Given the description of an element on the screen output the (x, y) to click on. 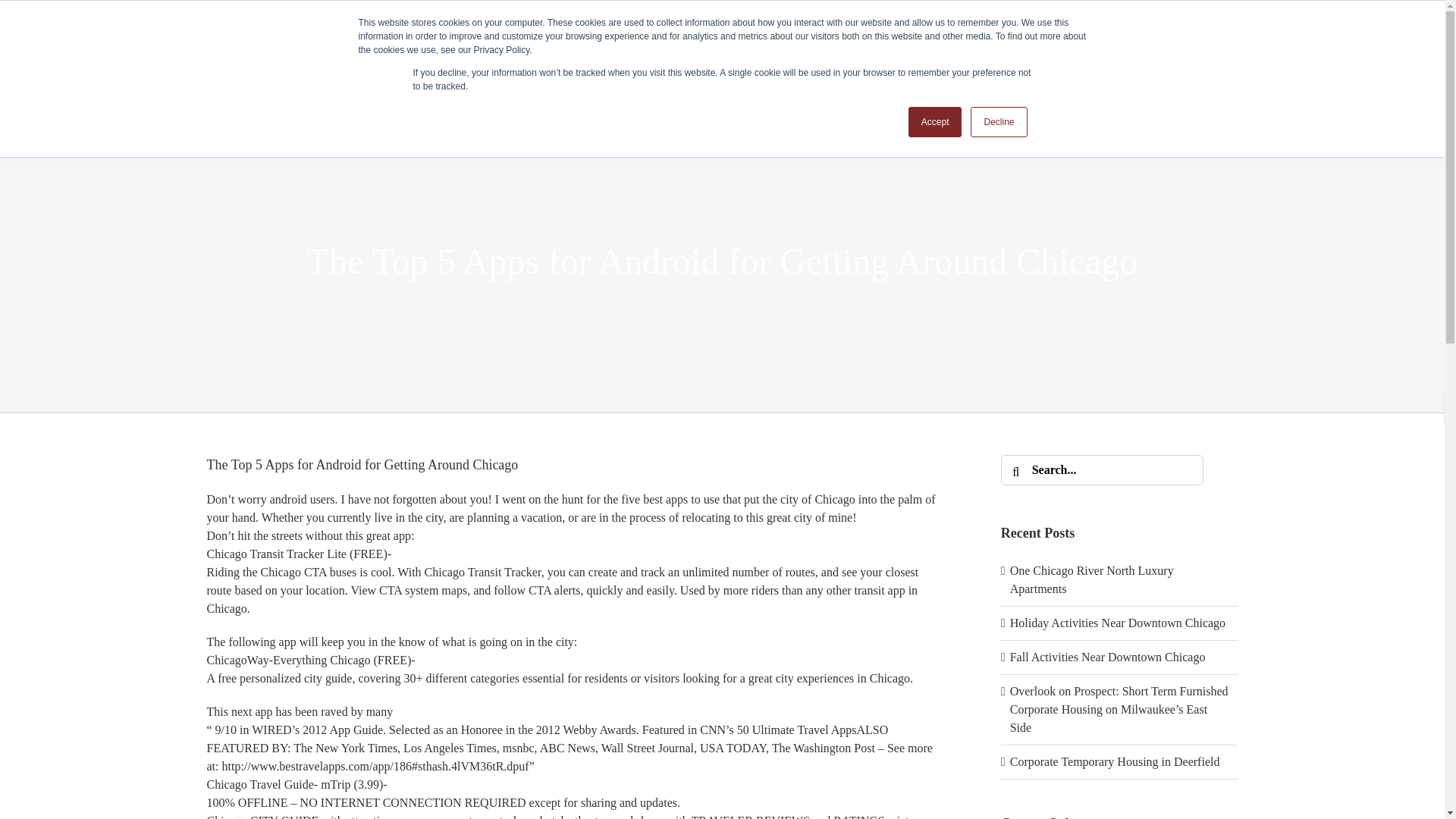
Contact Us (906, 81)
Furnished Properties (720, 81)
Decline (998, 122)
Home (525, 81)
Who We Serve (826, 81)
Our Rental Process (602, 81)
Book Now (1377, 28)
Accept (935, 122)
